Given the description of an element on the screen output the (x, y) to click on. 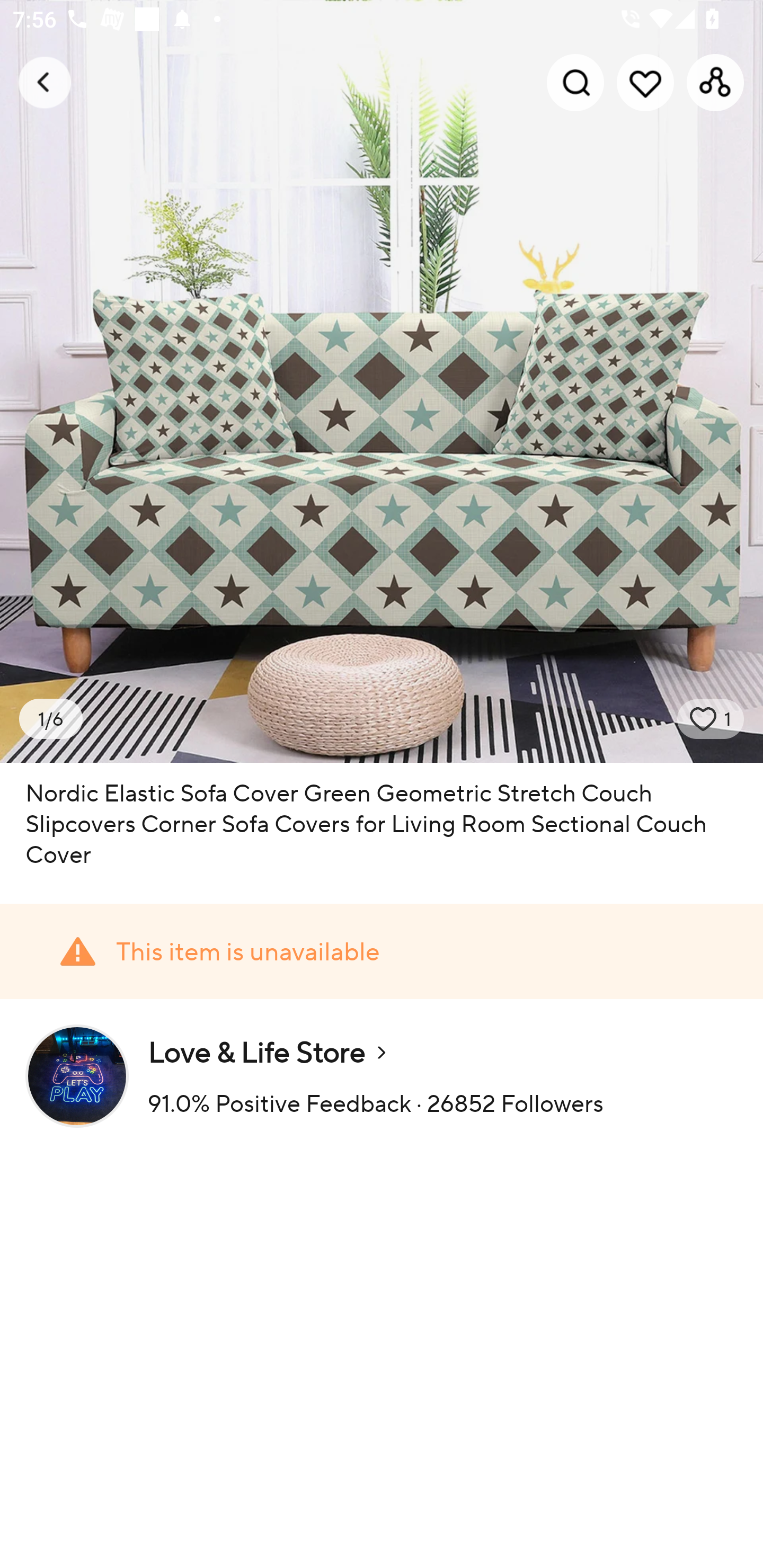
Navigate up (44, 82)
wish state 1 (710, 718)
